Given the description of an element on the screen output the (x, y) to click on. 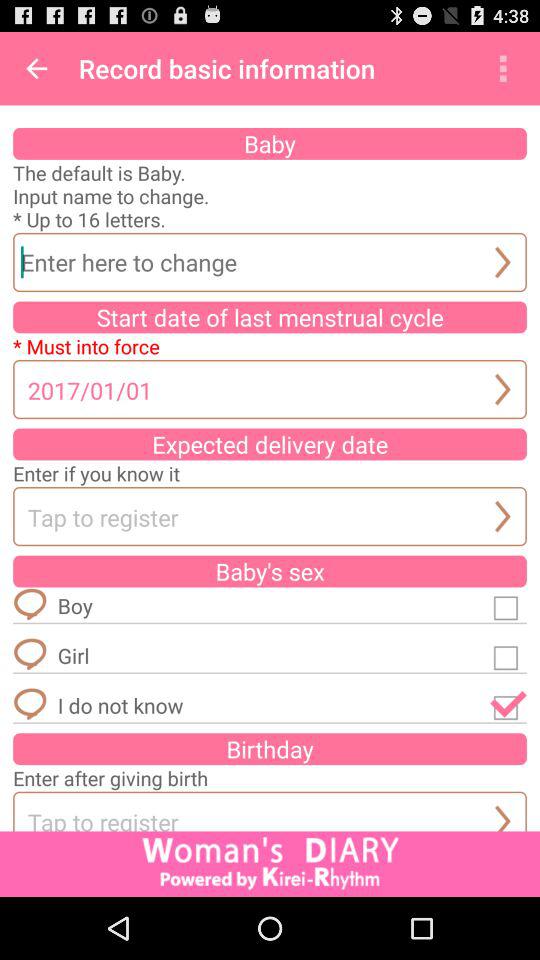
select/unselect box (508, 705)
